Given the description of an element on the screen output the (x, y) to click on. 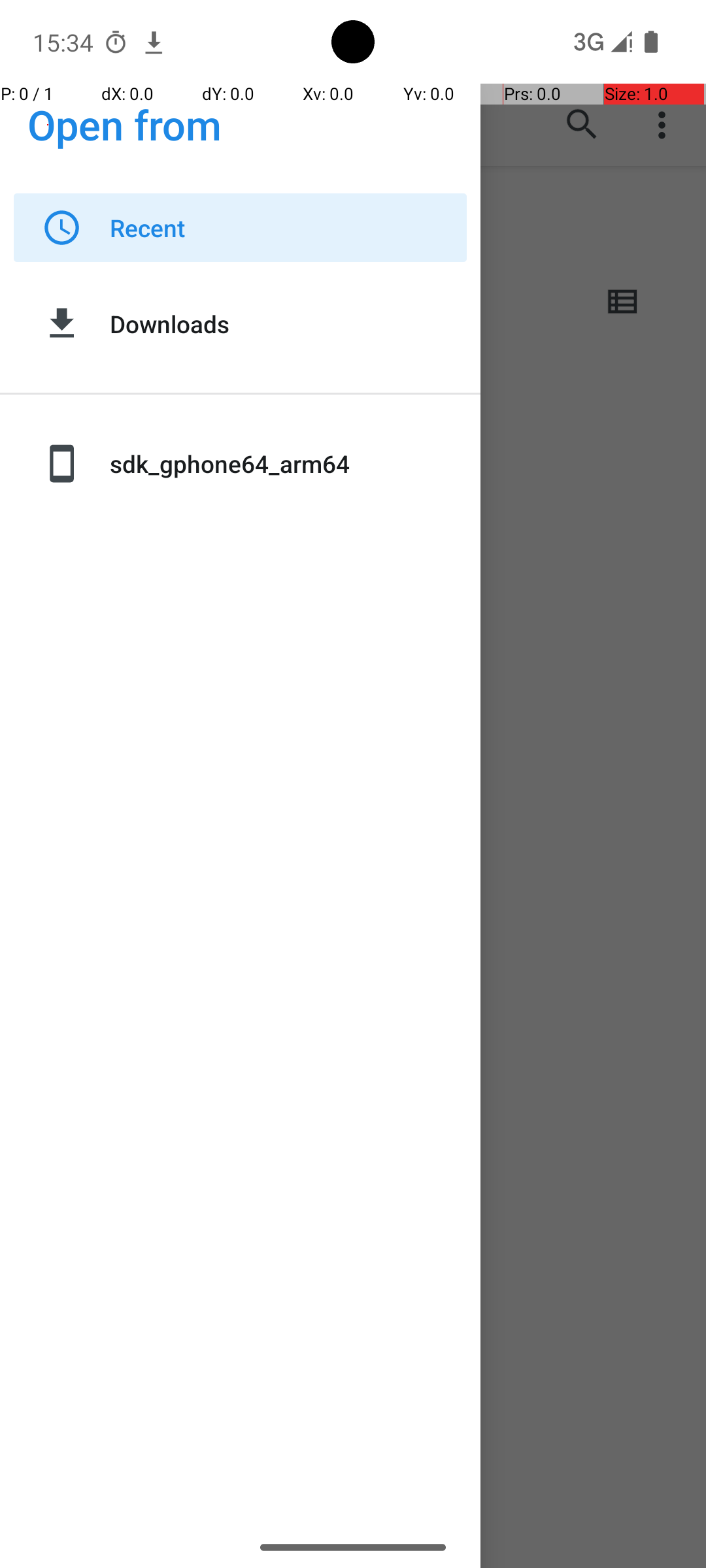
Open from Element type: android.widget.TextView (124, 124)
Chrome notification: www.espn.com Element type: android.widget.ImageView (153, 41)
